Given the description of an element on the screen output the (x, y) to click on. 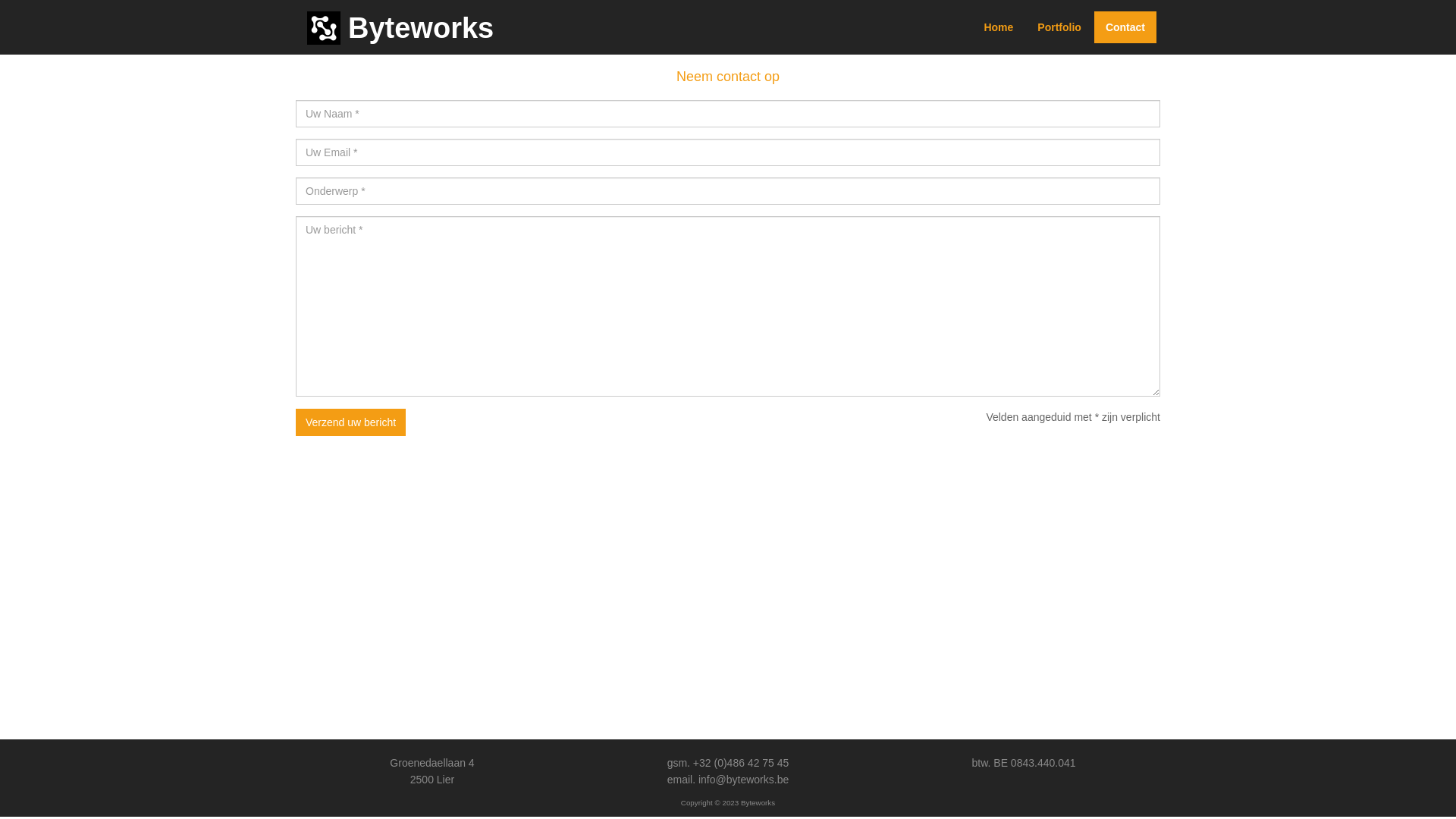
Contact Element type: text (1125, 27)
gsm. +32 (0)486 42 75 45 Element type: text (728, 762)
email. info@byteworks.be Element type: text (728, 779)
Byteworks Element type: text (400, 28)
Verzend uw bericht Element type: text (350, 422)
Portfolio Element type: text (1059, 27)
Home Element type: text (998, 27)
